Given the description of an element on the screen output the (x, y) to click on. 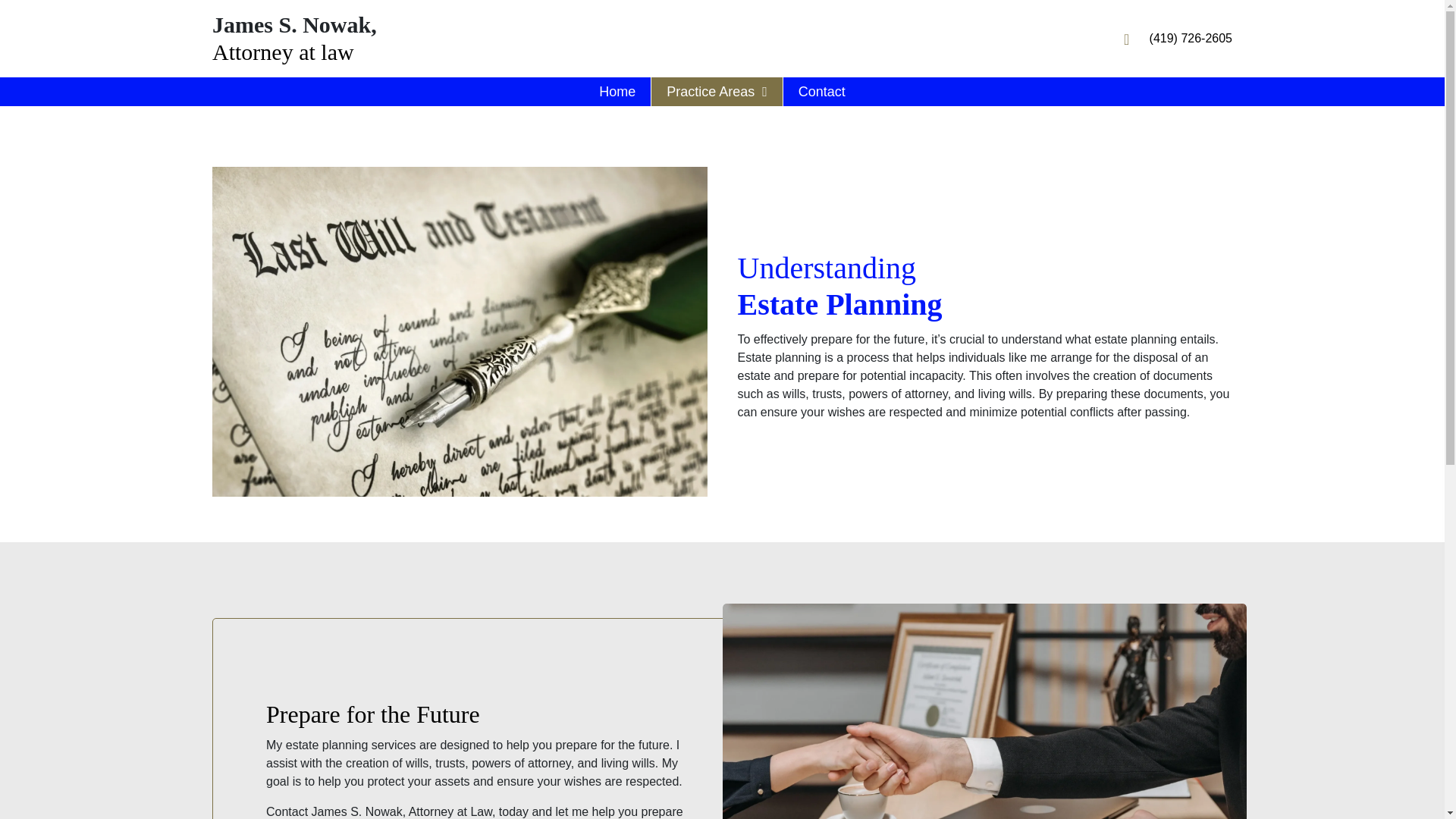
Home (616, 91)
Practice Areas (716, 91)
Contact (821, 91)
James S. Nowak, Attorney at law (984, 711)
